Given the description of an element on the screen output the (x, y) to click on. 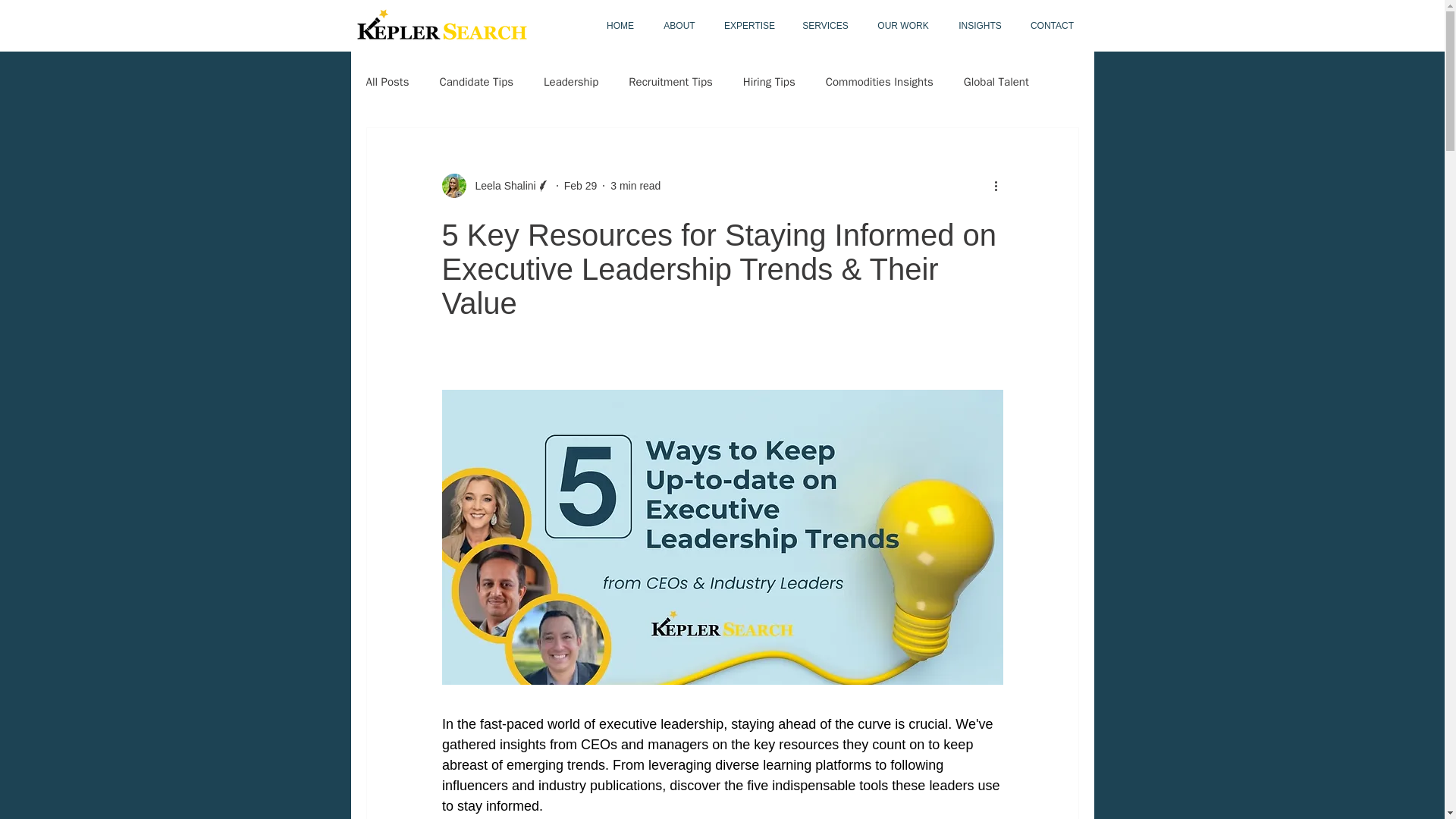
3 min read (635, 184)
INSIGHTS (980, 25)
All Posts (387, 81)
OUR WORK (902, 25)
Leela Shalini (500, 185)
SERVICES (825, 25)
Recruitment Tips (670, 81)
Leadership (570, 81)
Hiring Tips (768, 81)
Commodities Insights (879, 81)
HOME (619, 25)
Feb 29 (580, 184)
CONTACT (1052, 25)
Global Talent (996, 81)
Candidate Tips (476, 81)
